Given the description of an element on the screen output the (x, y) to click on. 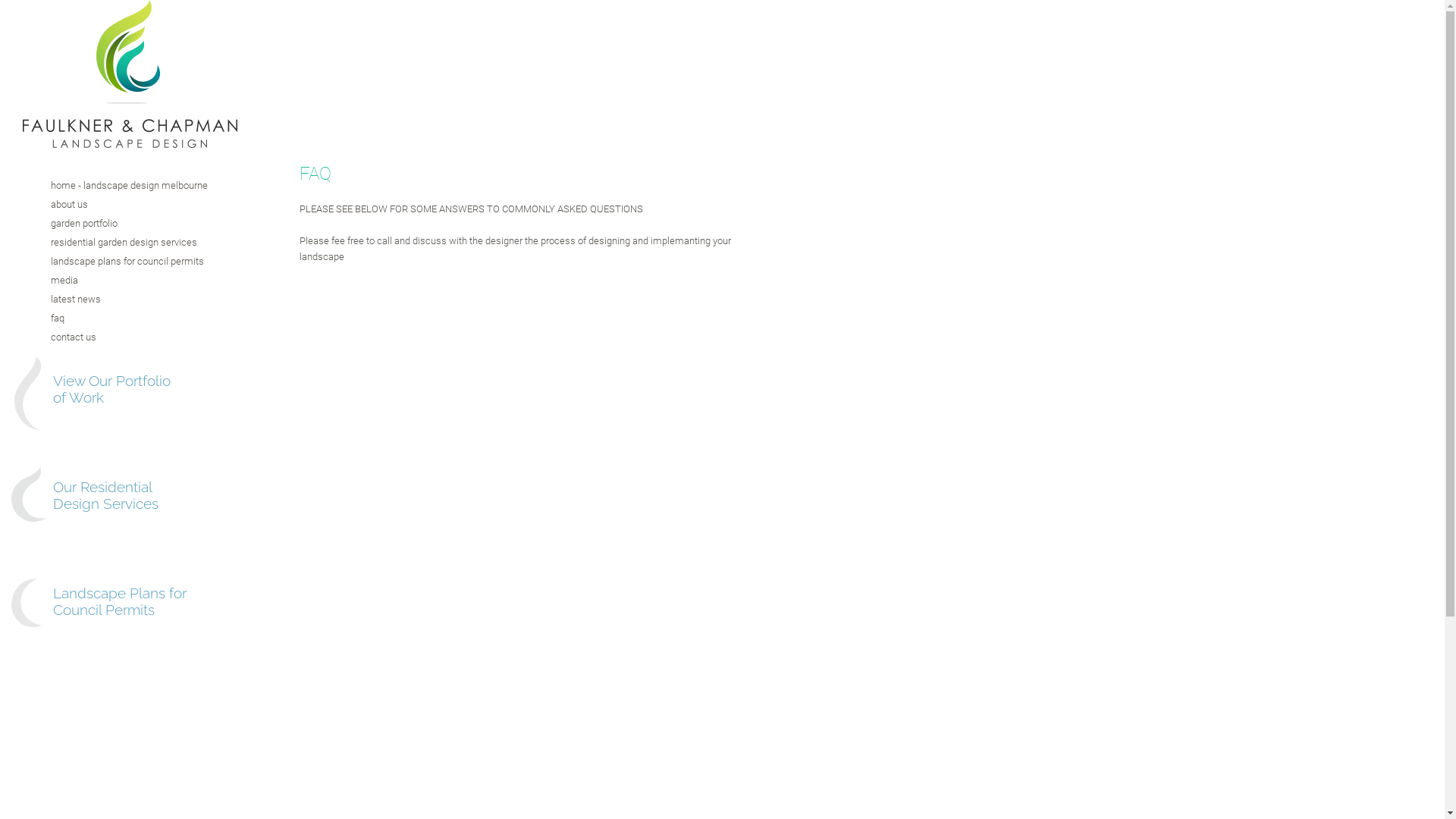
landscape plans for council permits Element type: text (109, 260)
latest news Element type: text (109, 298)
residential garden design services Element type: text (109, 241)
about us Element type: text (109, 203)
Our Residential
Design Services Element type: text (105, 494)
Landscape Plans for
Council Permits Element type: text (119, 601)
View Our Portfolio
of Work Element type: text (111, 388)
contact us Element type: text (109, 336)
home - landscape design melbourne Element type: text (109, 184)
garden portfolio Element type: text (109, 222)
media Element type: text (109, 279)
faq Element type: text (109, 317)
